Given the description of an element on the screen output the (x, y) to click on. 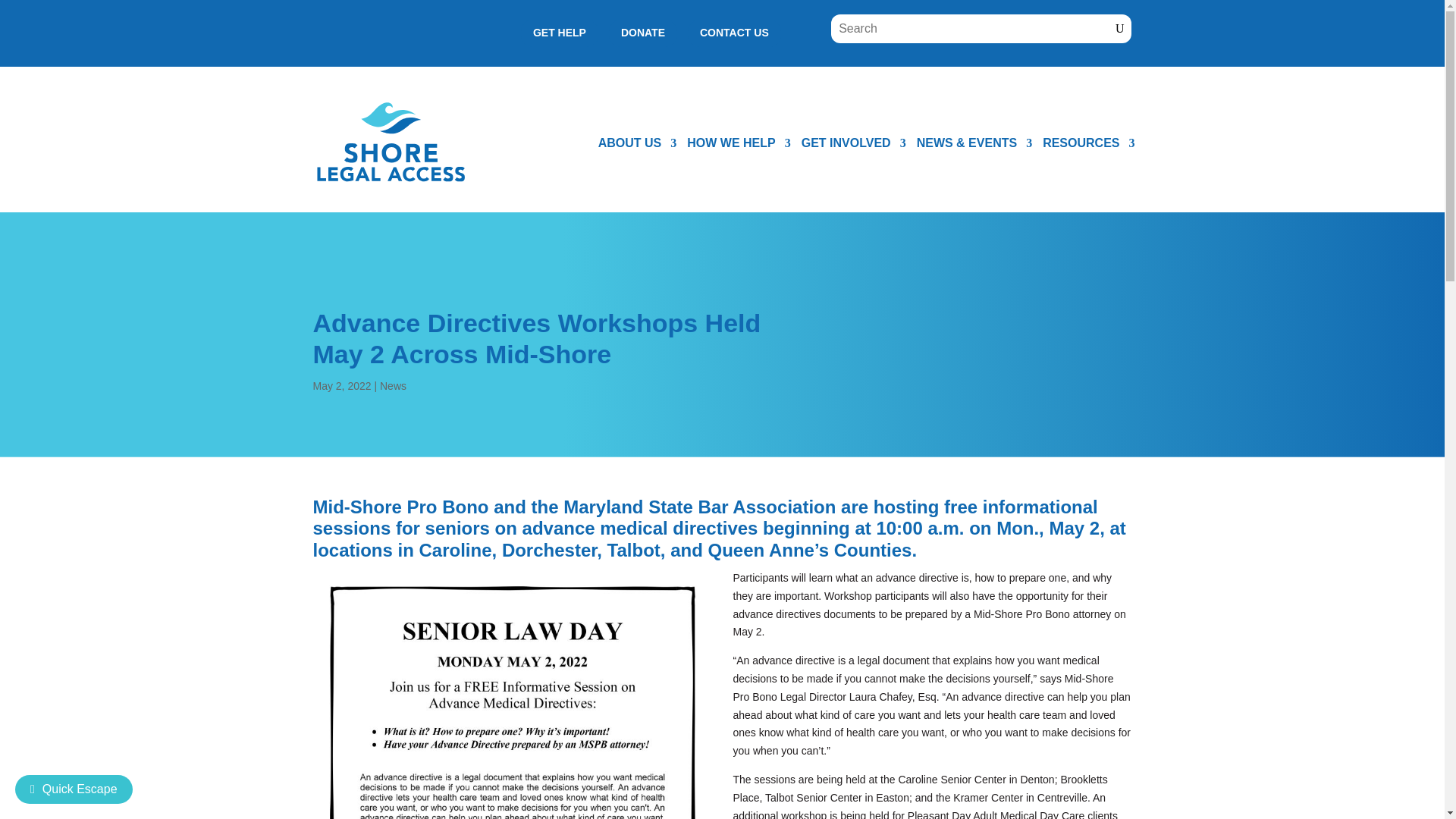
RESOURCES (1088, 143)
skip (1088, 143)
DONATE (642, 32)
skip (974, 143)
HOW WE HELP (738, 143)
CONTACT US (733, 32)
Quick Escape (73, 788)
News (393, 386)
GET HELP (559, 32)
GET INVOLVED (853, 143)
